Given the description of an element on the screen output the (x, y) to click on. 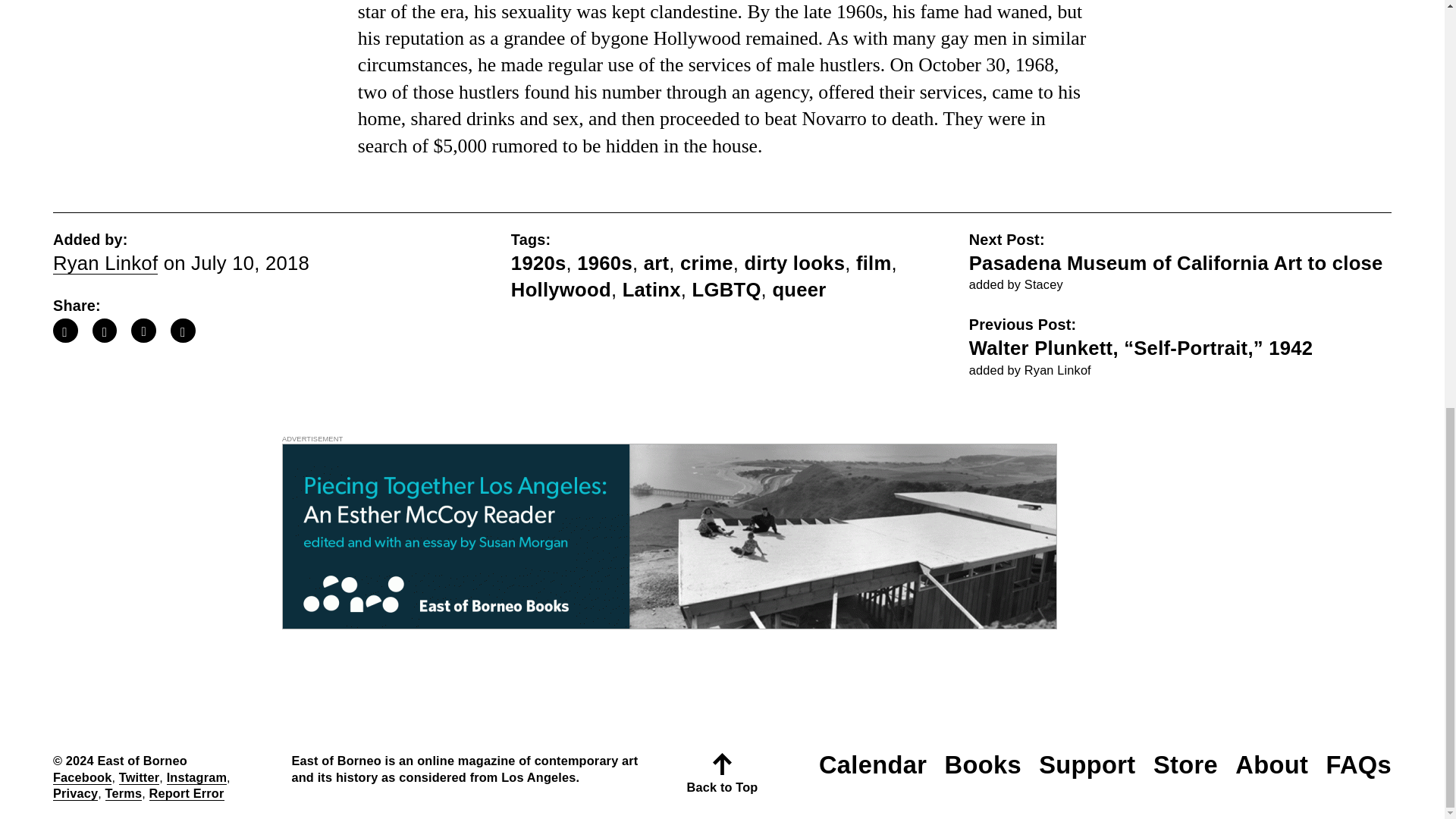
art (656, 262)
Instagram (197, 777)
film (873, 262)
dirty looks (794, 262)
1960s (603, 262)
Facebook (82, 777)
Report Error (186, 793)
LGBTQ (727, 289)
Back to Top (722, 778)
Privacy (74, 793)
Latinx (652, 289)
Books (981, 764)
Twitter (138, 777)
Ryan Linkof (104, 263)
Hollywood (561, 289)
